Given the description of an element on the screen output the (x, y) to click on. 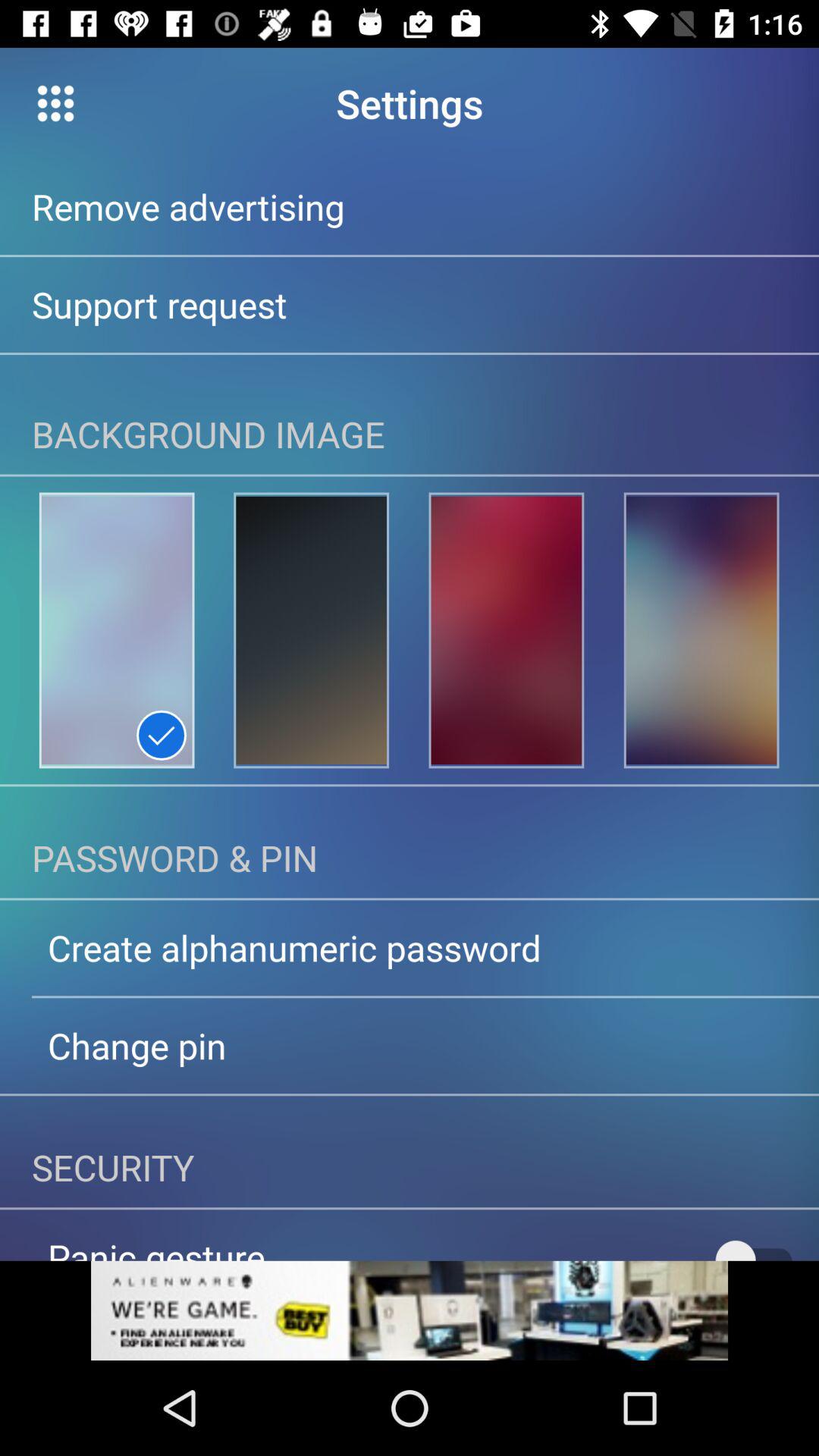
set the background image (701, 630)
